Given the description of an element on the screen output the (x, y) to click on. 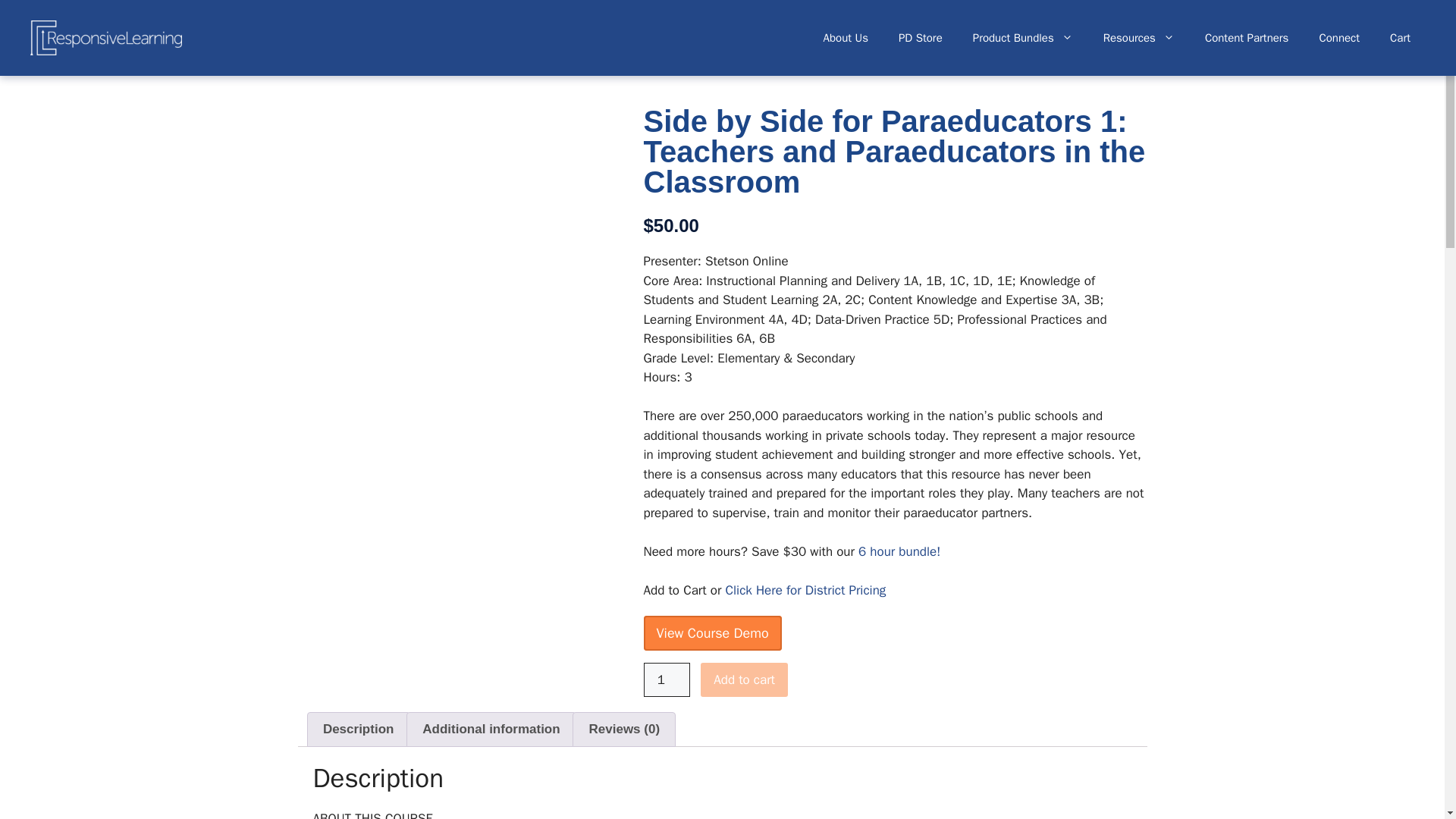
6 hour bundle! (899, 550)
Cart (1399, 37)
Resources (1138, 37)
Additional information (491, 729)
Product Bundles (1022, 37)
View Course Demo (711, 632)
PD Store (920, 37)
Connect (1338, 37)
About Us (845, 37)
Click Here for District Pricing (805, 590)
